Given the description of an element on the screen output the (x, y) to click on. 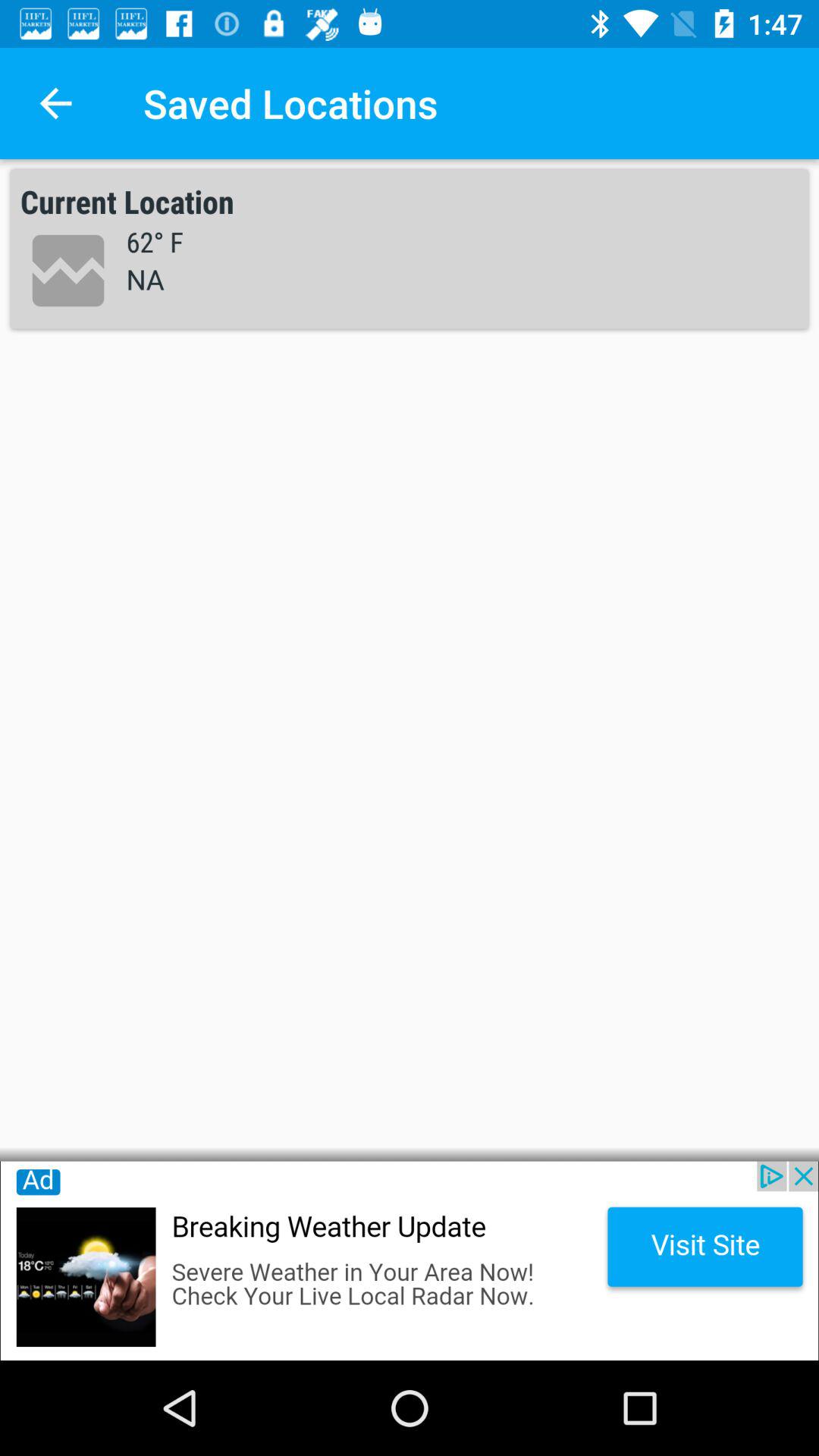
advertisement about breaking weather update (409, 1260)
